Given the description of an element on the screen output the (x, y) to click on. 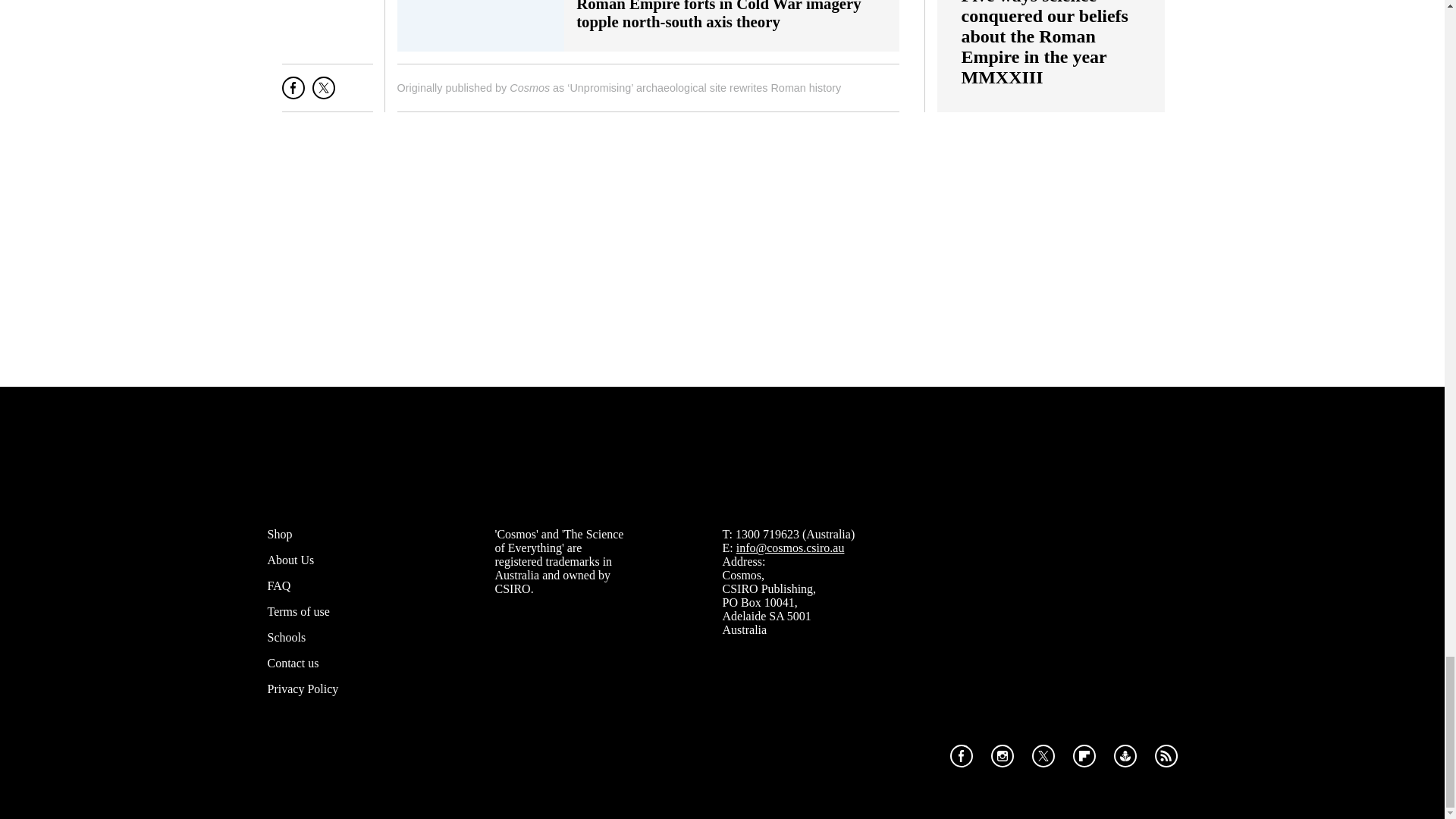
Share on Facebook (293, 93)
Tweet (323, 93)
